Given the description of an element on the screen output the (x, y) to click on. 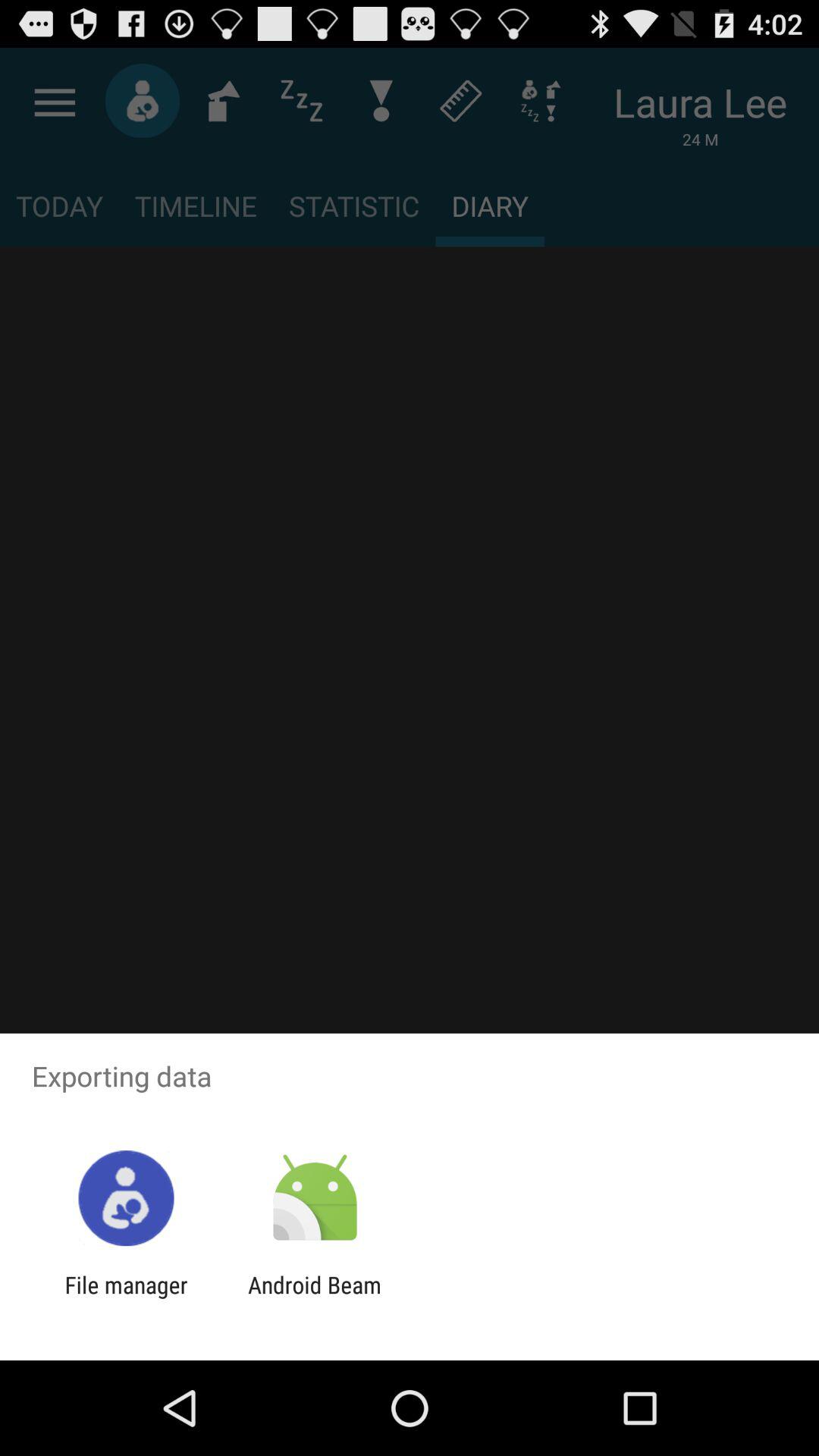
press icon to the right of the file manager app (314, 1298)
